Given the description of an element on the screen output the (x, y) to click on. 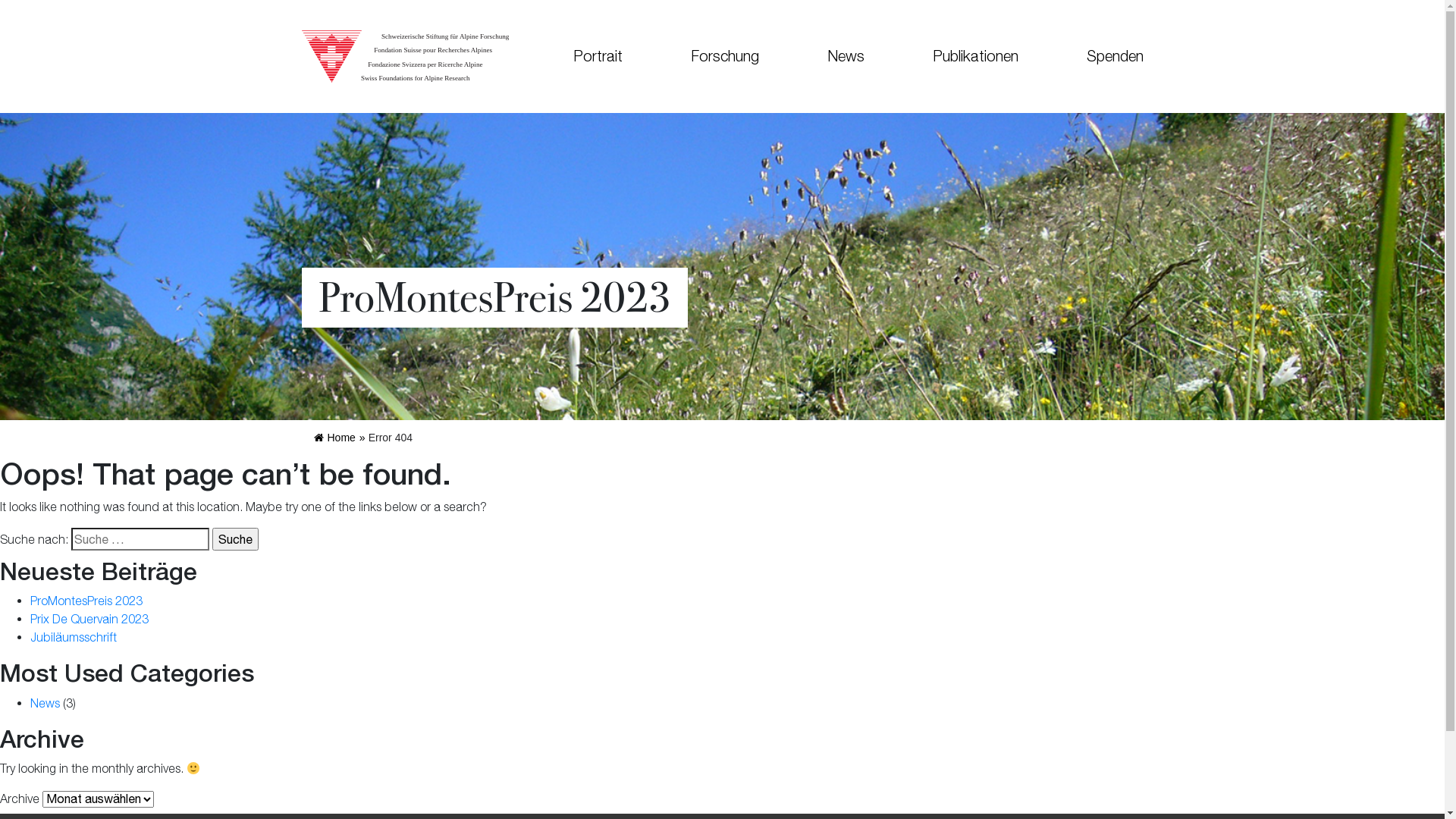
Prix De Quervain 2023 Element type: text (89, 618)
ProMontesPreis 2023 Element type: text (86, 600)
Home Element type: text (334, 437)
Spenden Element type: text (1097, 56)
News Element type: text (845, 56)
Publikationen Element type: text (974, 56)
Forschung Element type: text (724, 56)
Error 404 Element type: text (390, 437)
News Element type: text (44, 702)
Suche Element type: text (235, 538)
Portrait Element type: text (596, 56)
